Given the description of an element on the screen output the (x, y) to click on. 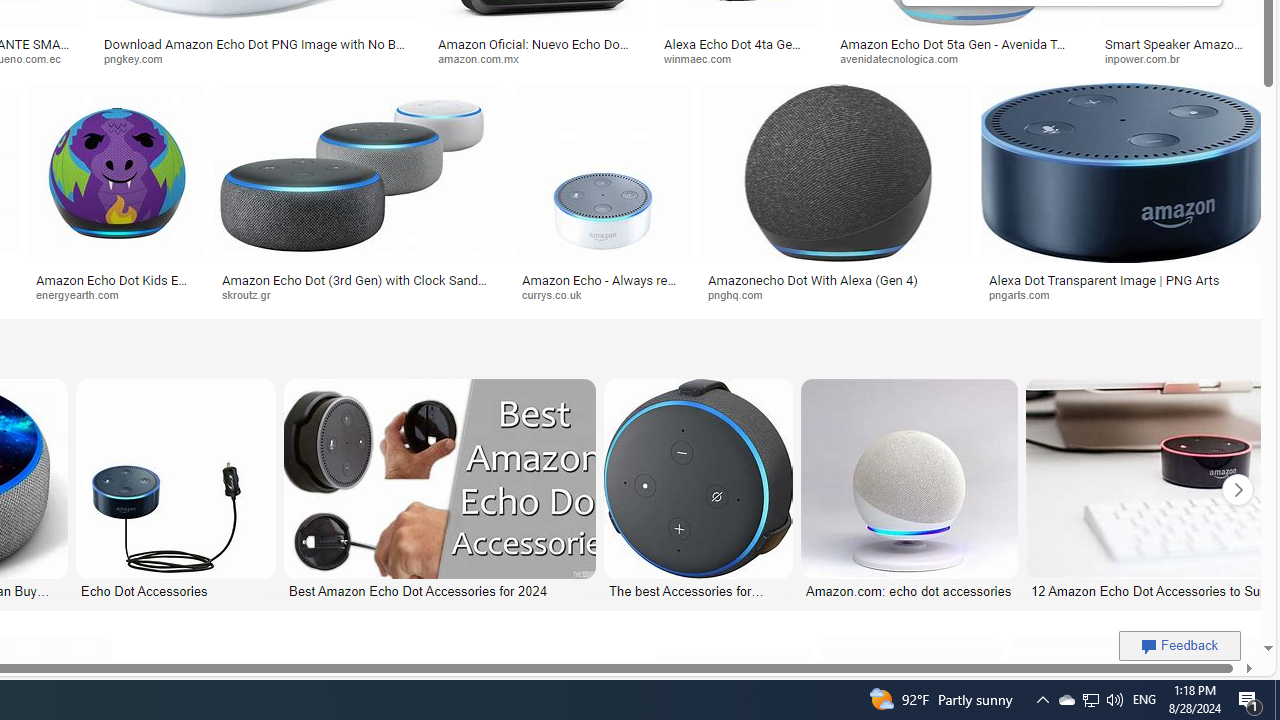
Image result for Amazon Echo Dot PNG (1122, 172)
Best Amazon Echo Dot Accessories for 2024 (437, 589)
Amazon.com: echo dot accessories (909, 589)
energyearth.com (84, 294)
energyearth.com (116, 295)
Alexa Dot Transparent Image | PNG Arts (1123, 279)
amazon.com.mx (484, 57)
winmaec.com (740, 58)
pngkey.com (139, 57)
